Given the description of an element on the screen output the (x, y) to click on. 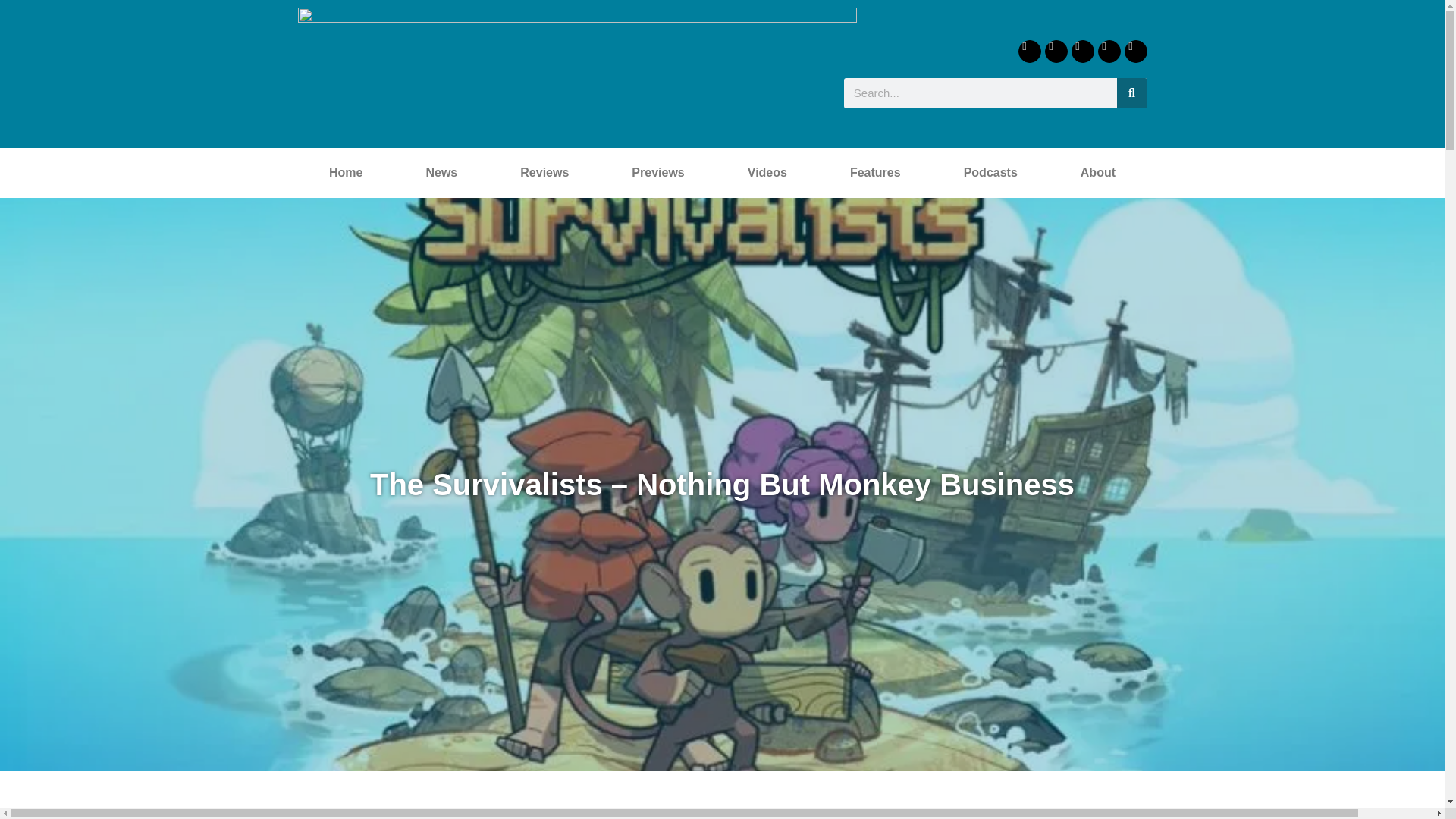
Features (874, 172)
Previews (657, 172)
Podcasts (989, 172)
News (441, 172)
About (1097, 172)
Reviews (544, 172)
Home (345, 172)
Videos (767, 172)
